Given the description of an element on the screen output the (x, y) to click on. 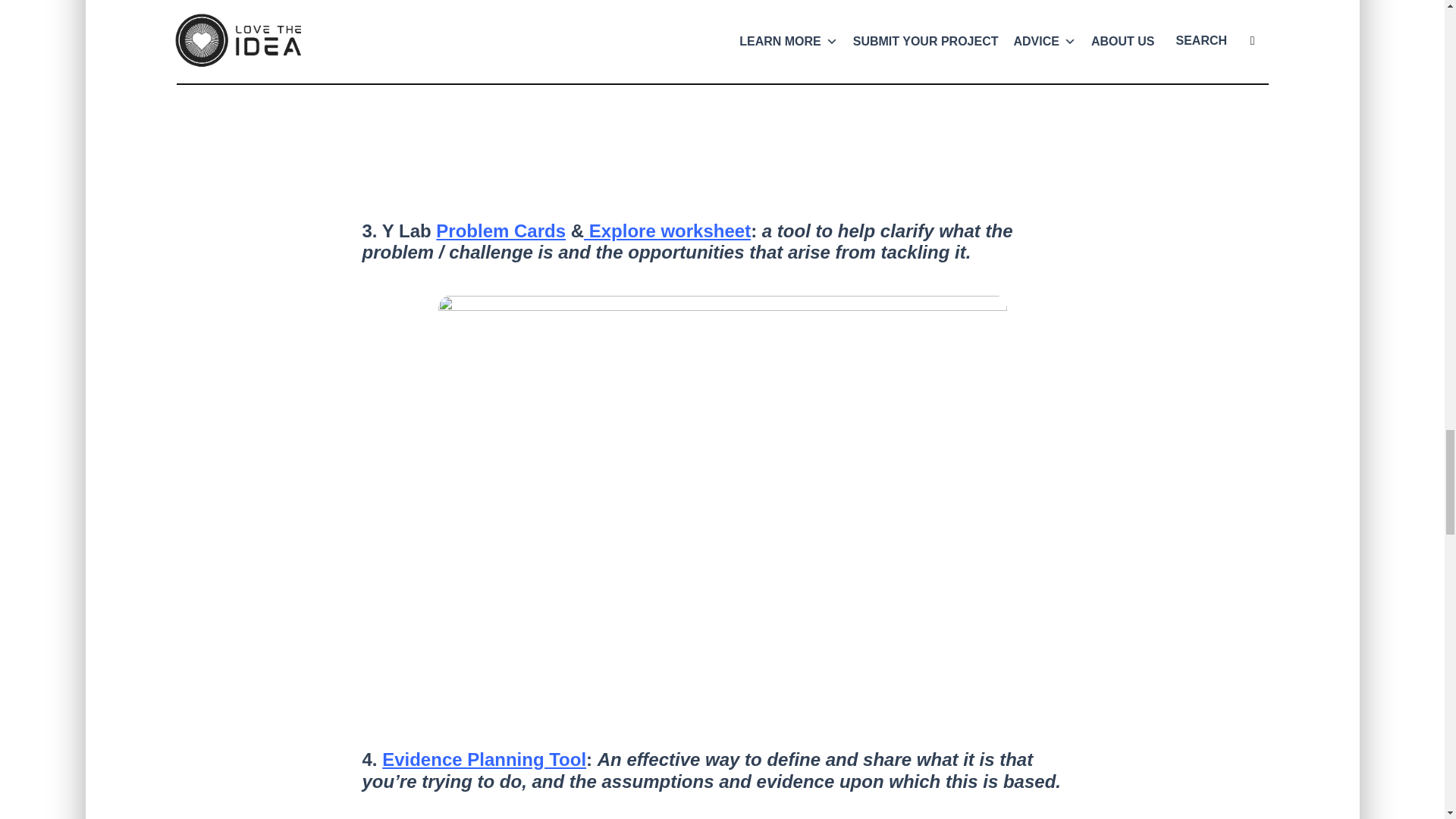
Evidence Planning Tool (483, 759)
Explore worksheet (667, 230)
Problem Cards (500, 230)
